Given the description of an element on the screen output the (x, y) to click on. 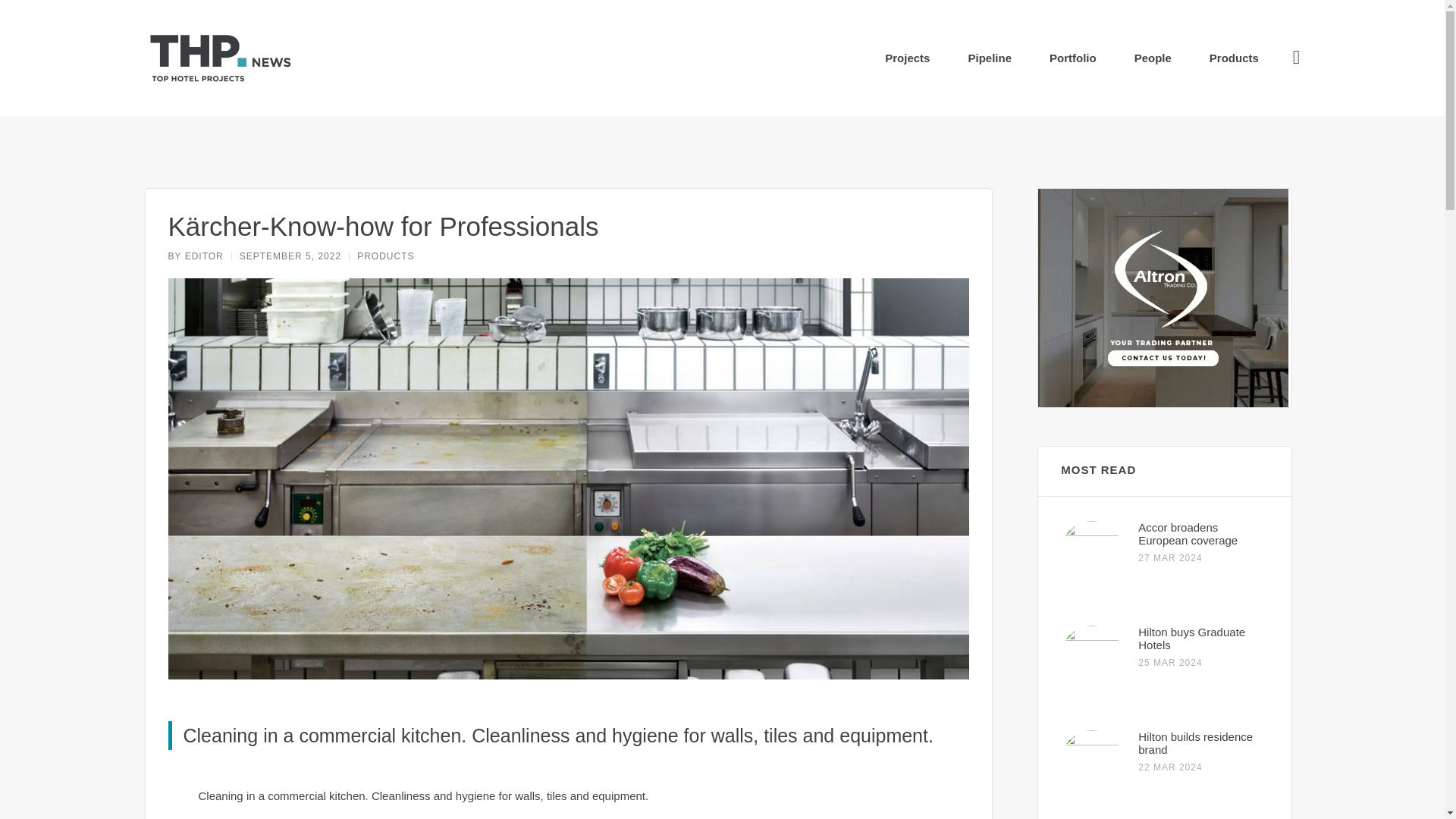
Hilton builds residence brand (1195, 742)
Portfolio (1072, 58)
Hilton buys Graduate Hotels (1191, 638)
Pipeline (989, 58)
Products (1234, 58)
Projects (907, 58)
People (1153, 58)
Accor broadens European coverage (1187, 533)
PRODUCTS (384, 255)
